Given the description of an element on the screen output the (x, y) to click on. 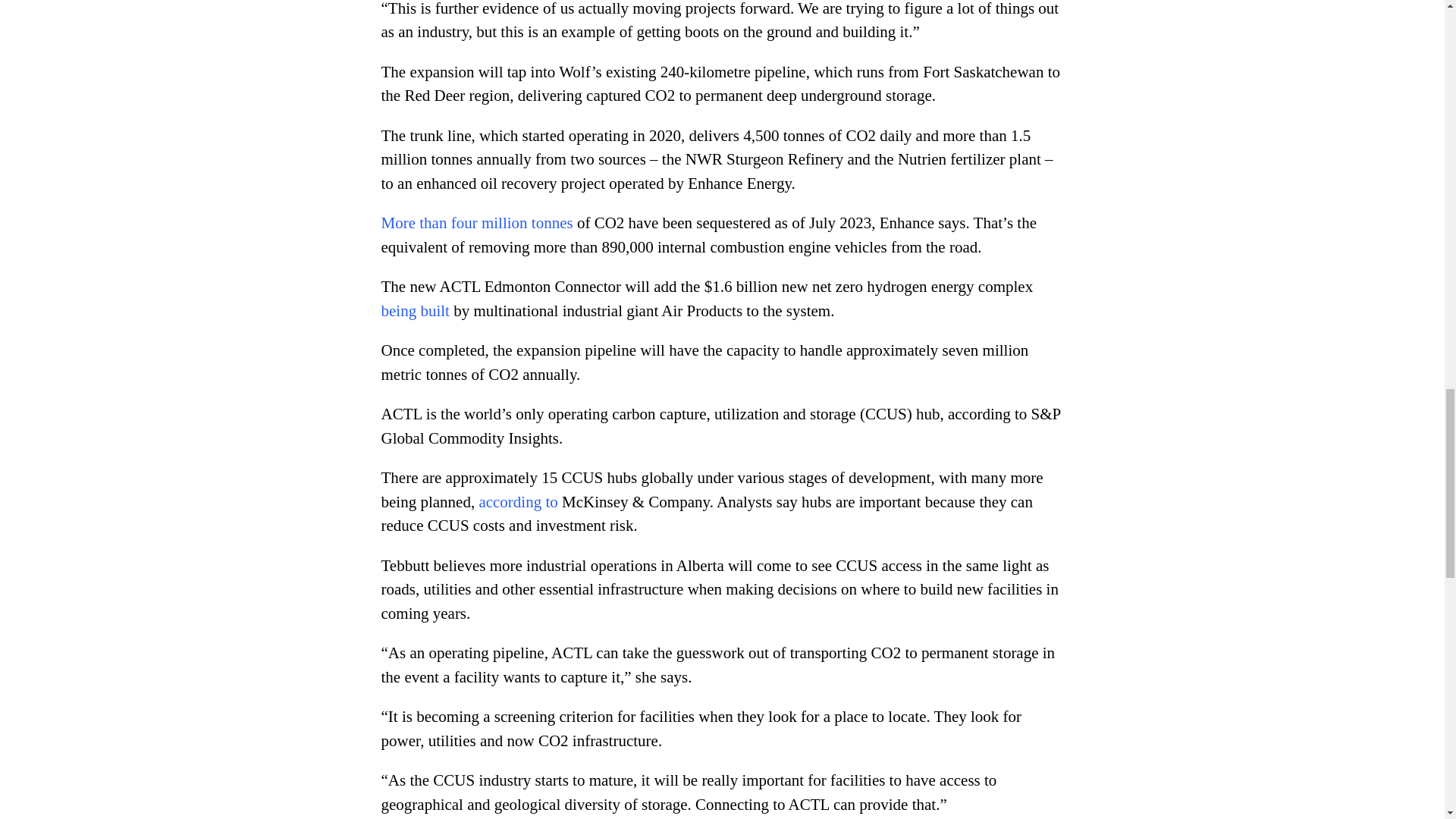
being built (414, 311)
according to (518, 502)
More than four million tonnes (476, 222)
